Given the description of an element on the screen output the (x, y) to click on. 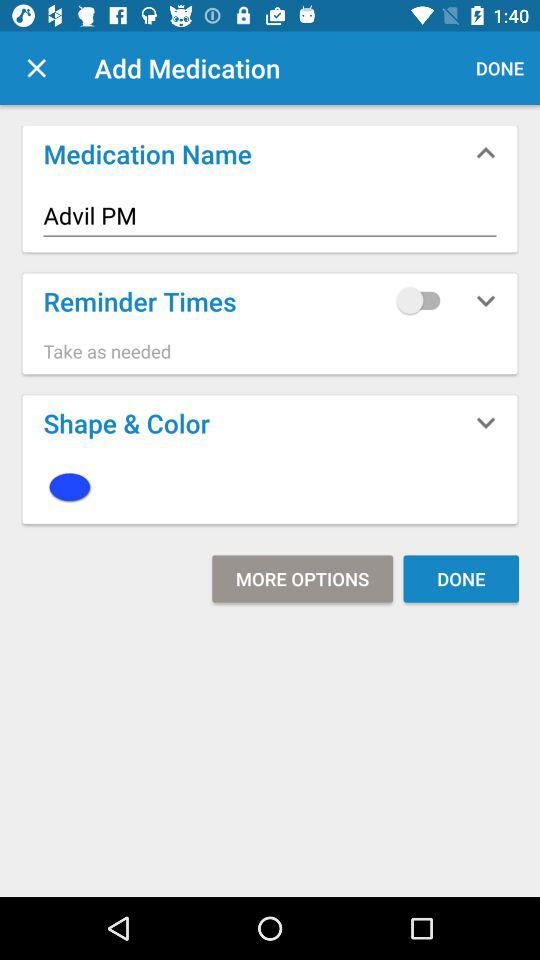
click item below   icon (302, 578)
